Given the description of an element on the screen output the (x, y) to click on. 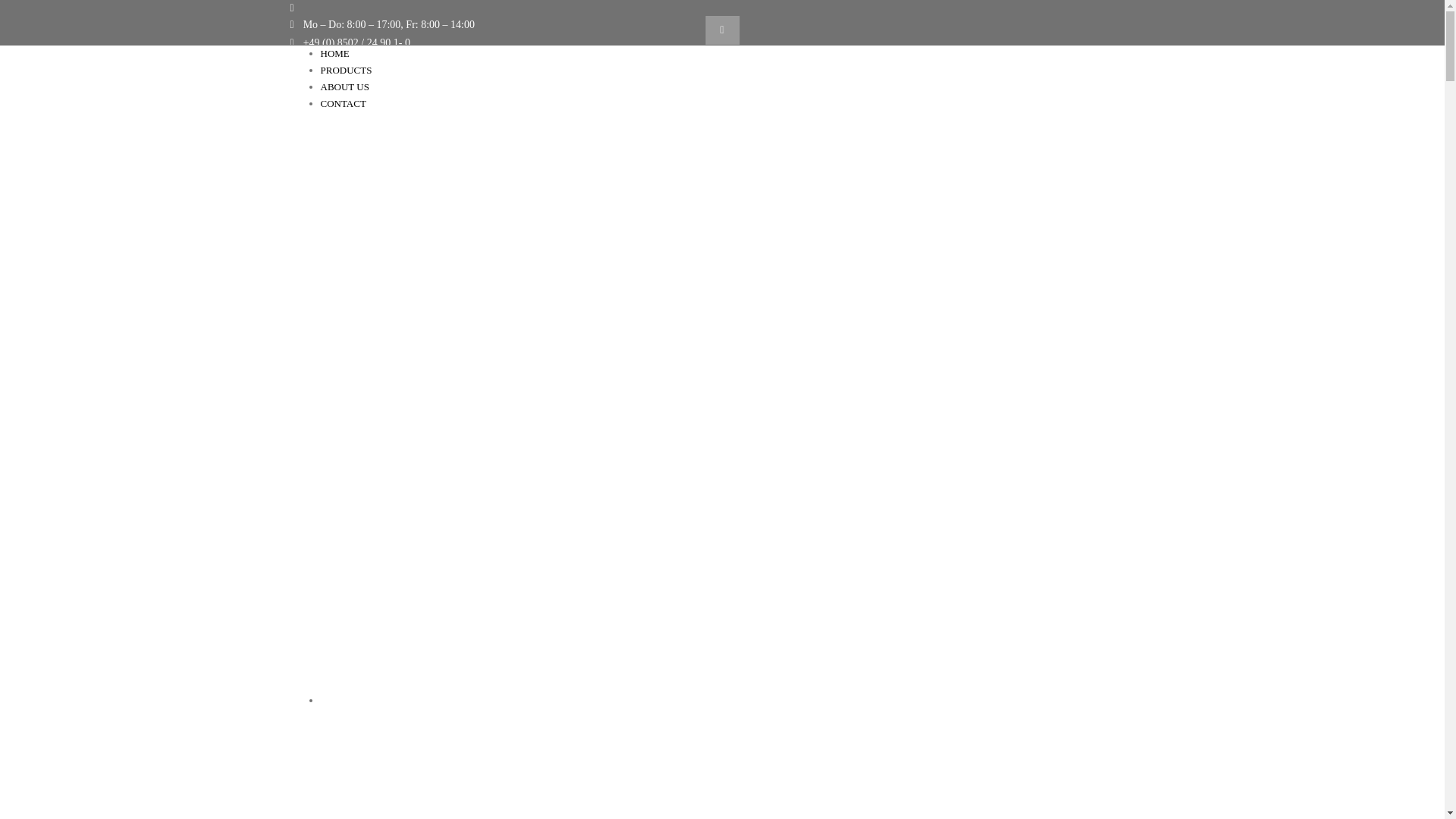
HOME (334, 52)
CONTACT (342, 102)
ABOUT US (344, 86)
PRODUCTS (345, 70)
Close top bar (721, 30)
